Given the description of an element on the screen output the (x, y) to click on. 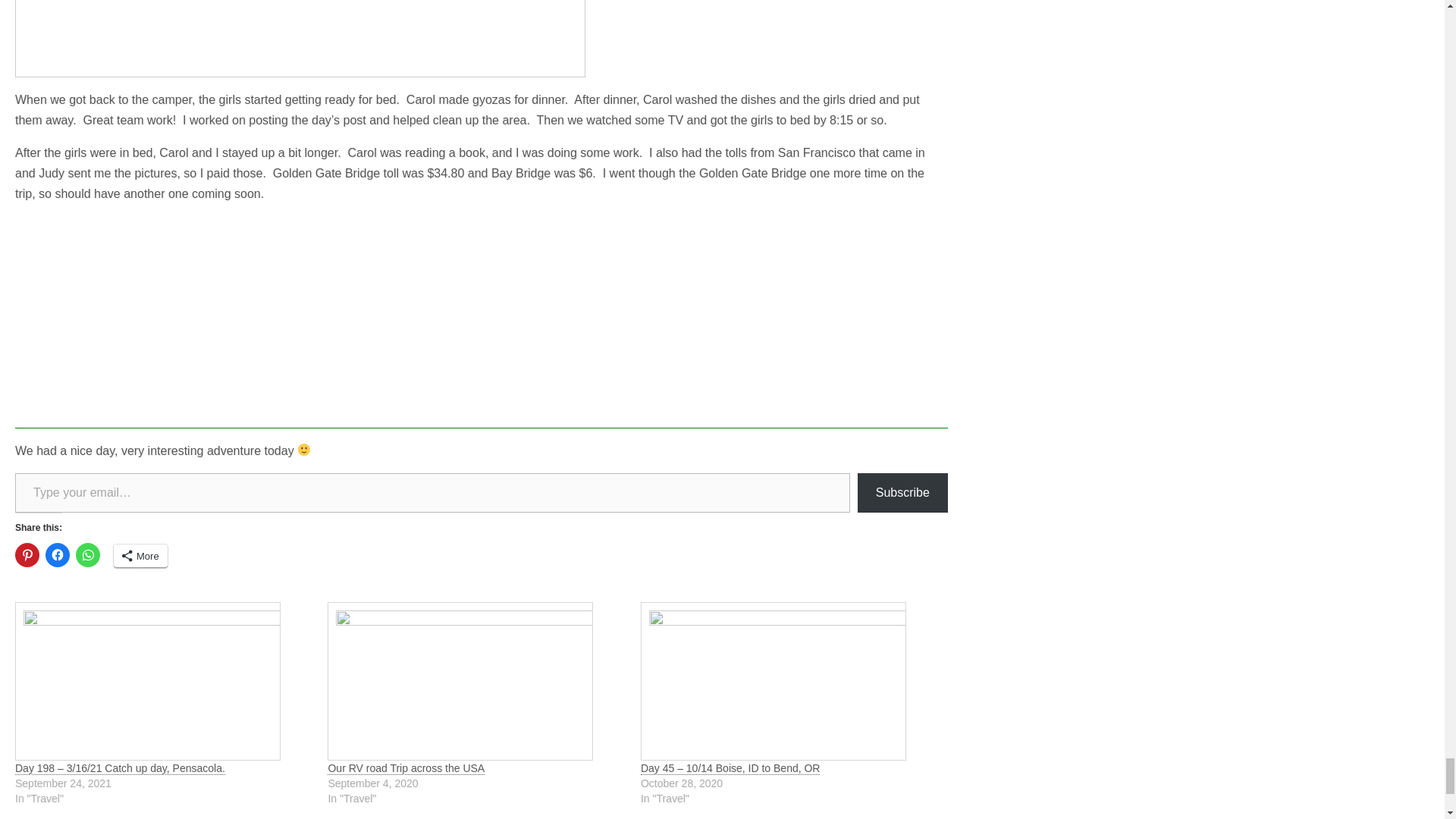
Click to share on Facebook (57, 554)
Click to share on WhatsApp (87, 554)
Our RV road Trip across the USA (405, 768)
Our RV road Trip across the USA (475, 680)
Subscribe (902, 493)
Click to share on Pinterest (26, 554)
More (140, 556)
